Given the description of an element on the screen output the (x, y) to click on. 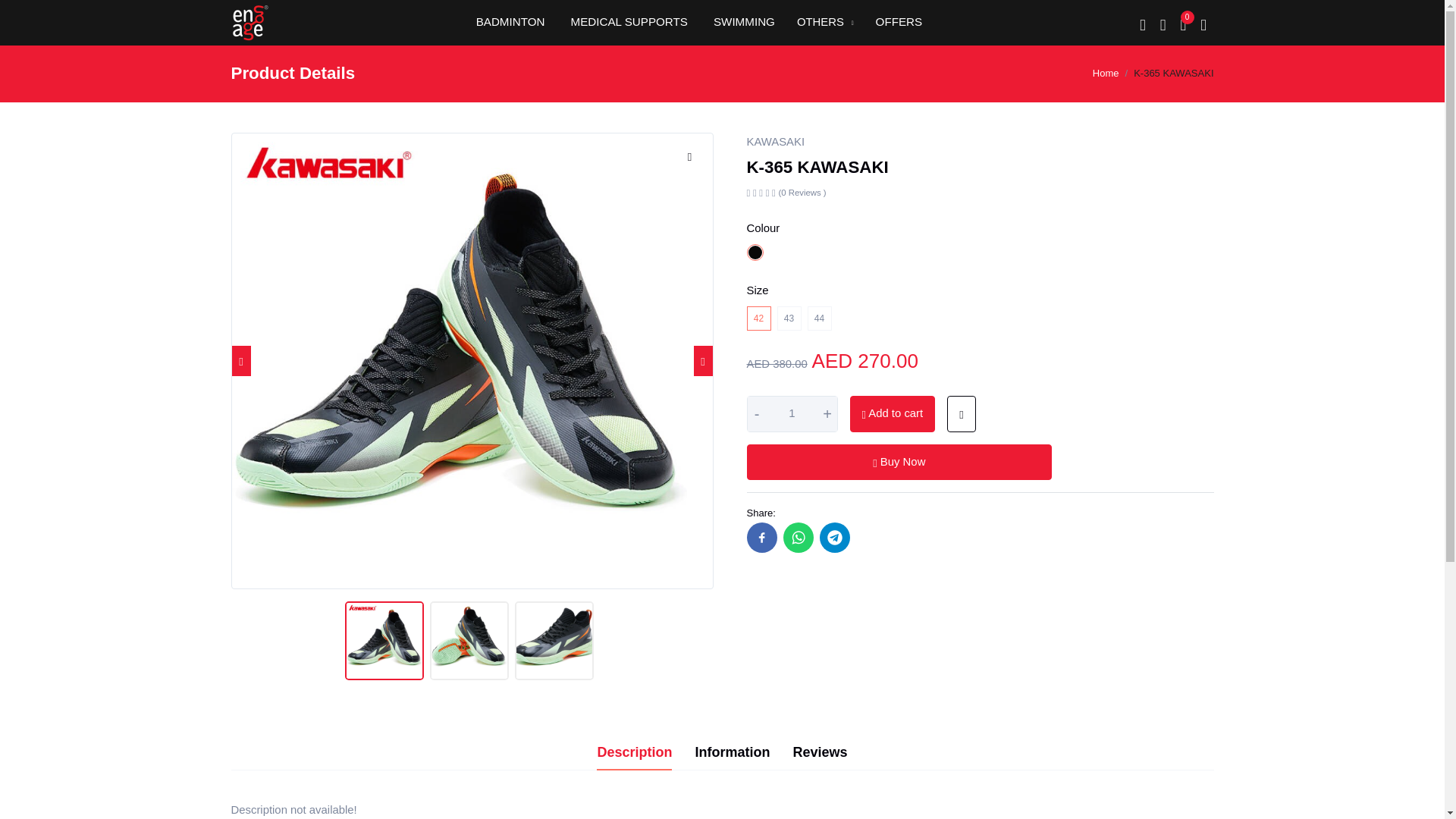
1 (791, 413)
OFFERS (898, 25)
SWIMMING (744, 25)
BADMINTON (510, 25)
MEDICAL SUPPORTS (627, 25)
OTHERS (825, 25)
